Given the description of an element on the screen output the (x, y) to click on. 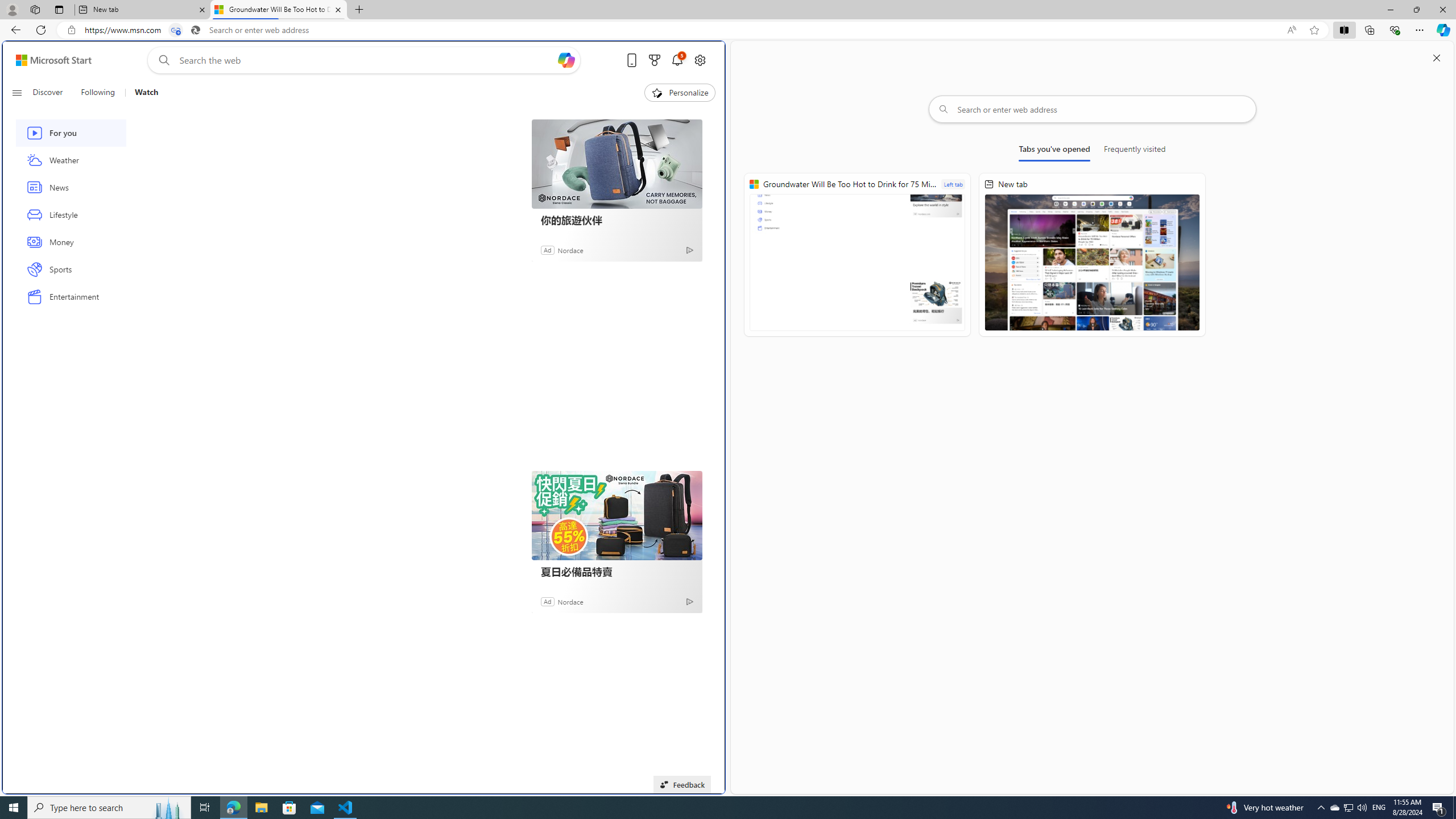
Close split screen (1436, 57)
Skip to content (49, 59)
Search or enter web address (1092, 108)
Enter your search term (366, 59)
